Given the description of an element on the screen output the (x, y) to click on. 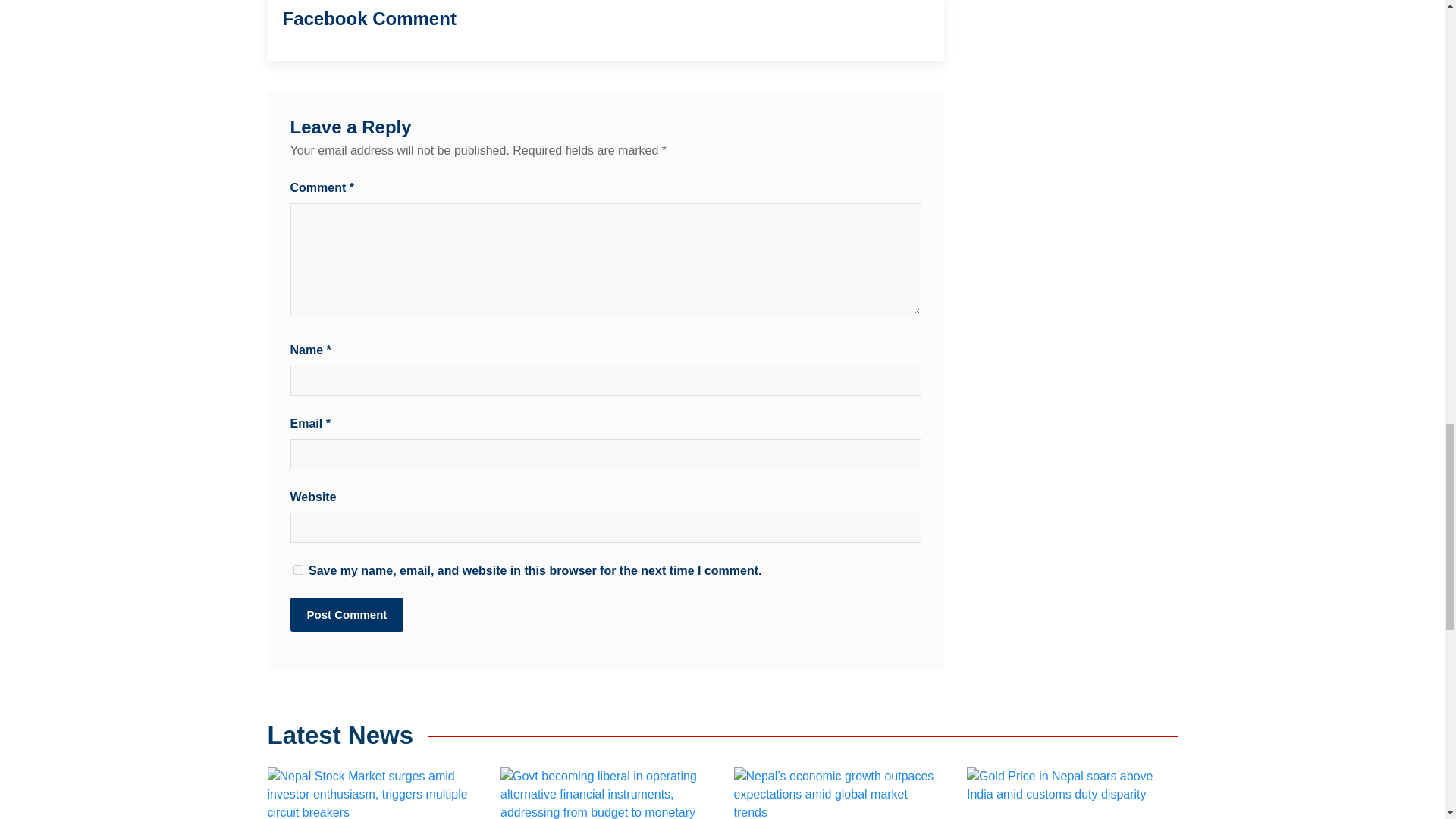
yes (297, 569)
Post Comment (346, 614)
